Given the description of an element on the screen output the (x, y) to click on. 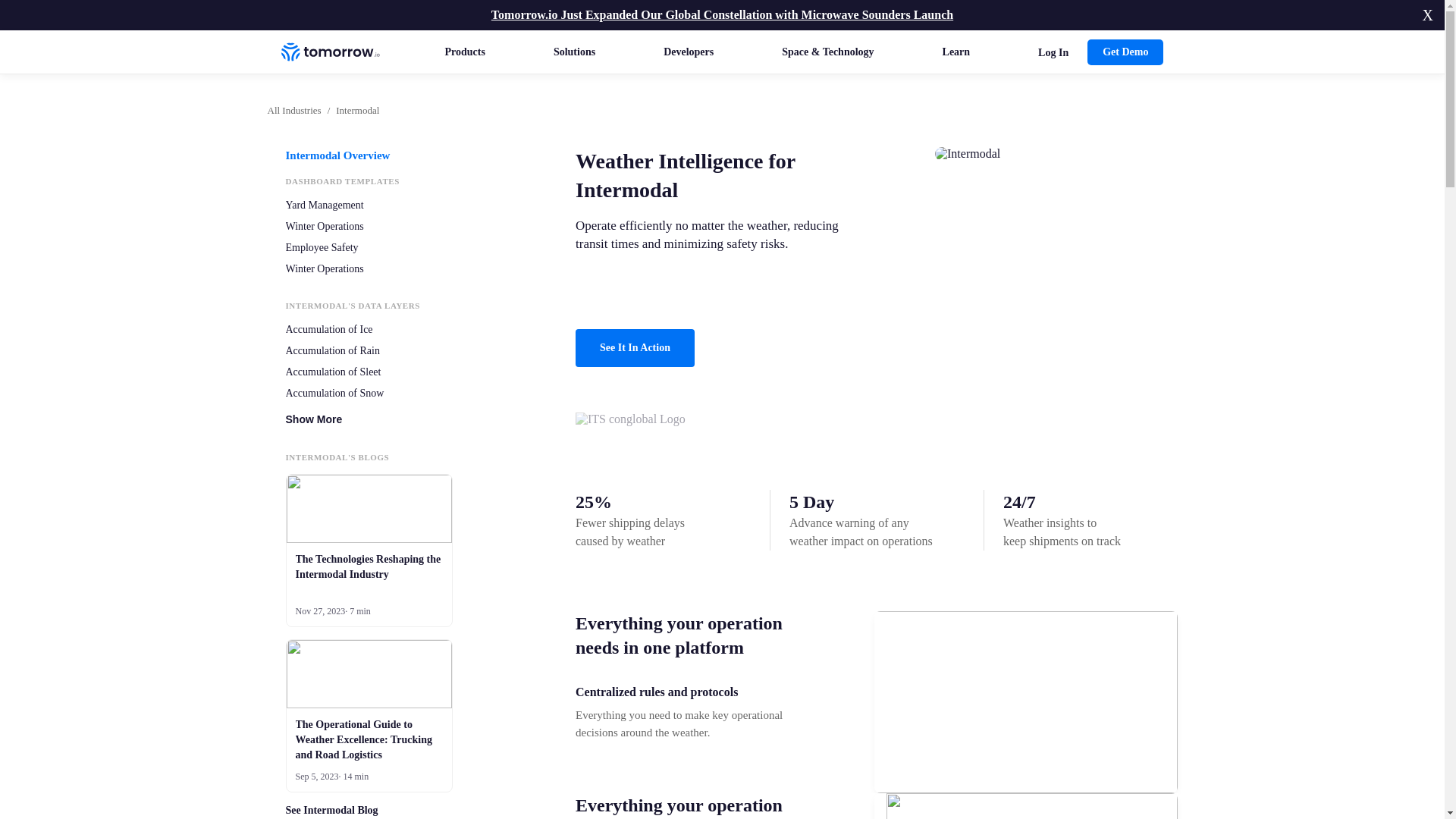
Products (464, 51)
Solutions (574, 51)
Developers (688, 51)
